Given the description of an element on the screen output the (x, y) to click on. 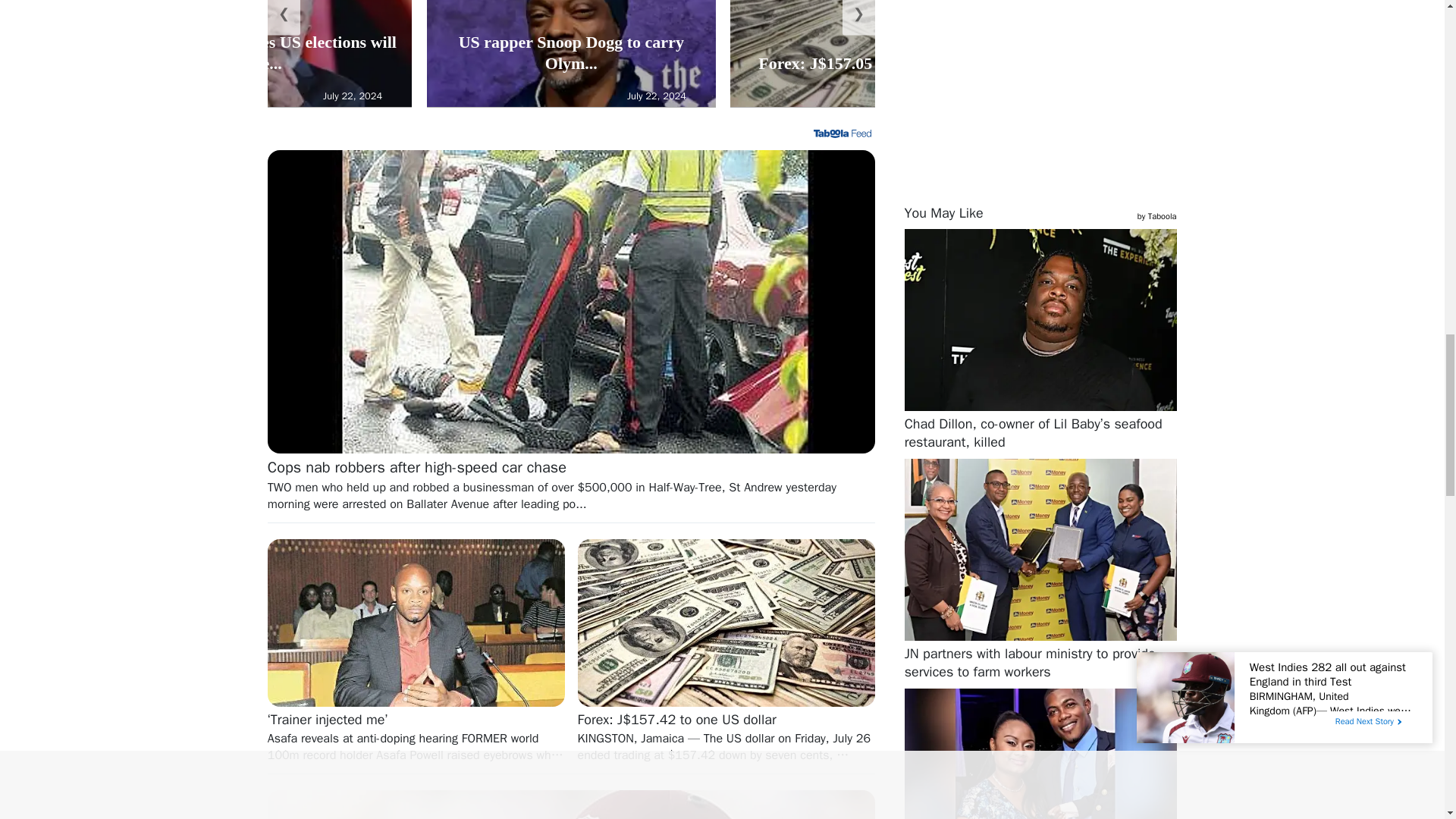
Cops nab robbers after high-speed car chase (571, 484)
